Given the description of an element on the screen output the (x, y) to click on. 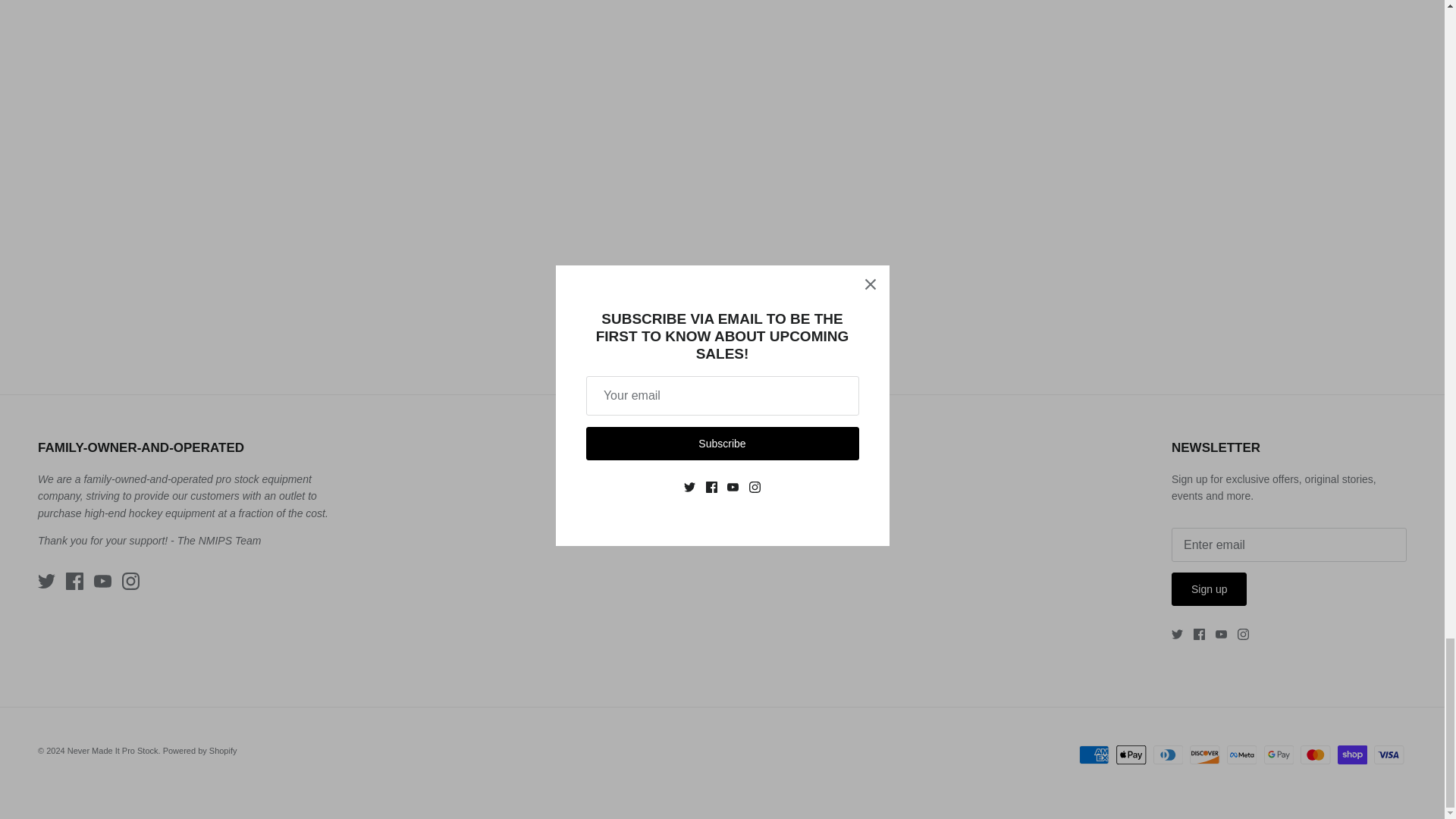
American Express (1093, 754)
Youtube (103, 580)
Diners Club (1168, 754)
Instagram (130, 580)
Facebook (1199, 633)
Twitter (46, 580)
Meta Pay (1241, 754)
Apple Pay (1130, 754)
Discover (1204, 754)
Facebook (73, 580)
Youtube (1221, 633)
Twitter (1177, 633)
Instagram (1243, 633)
